Given the description of an element on the screen output the (x, y) to click on. 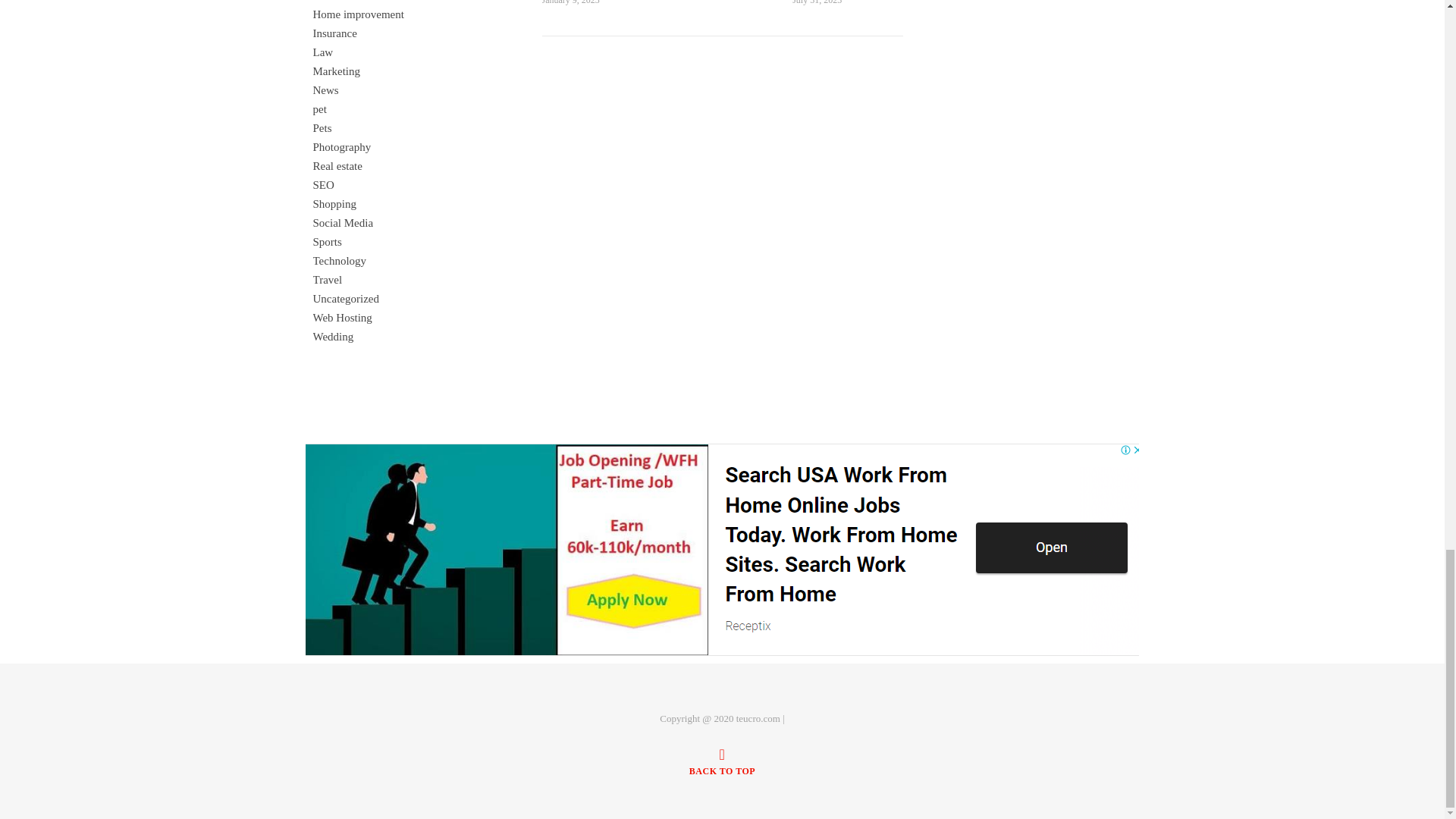
BACK TO TOP (722, 761)
